Given the description of an element on the screen output the (x, y) to click on. 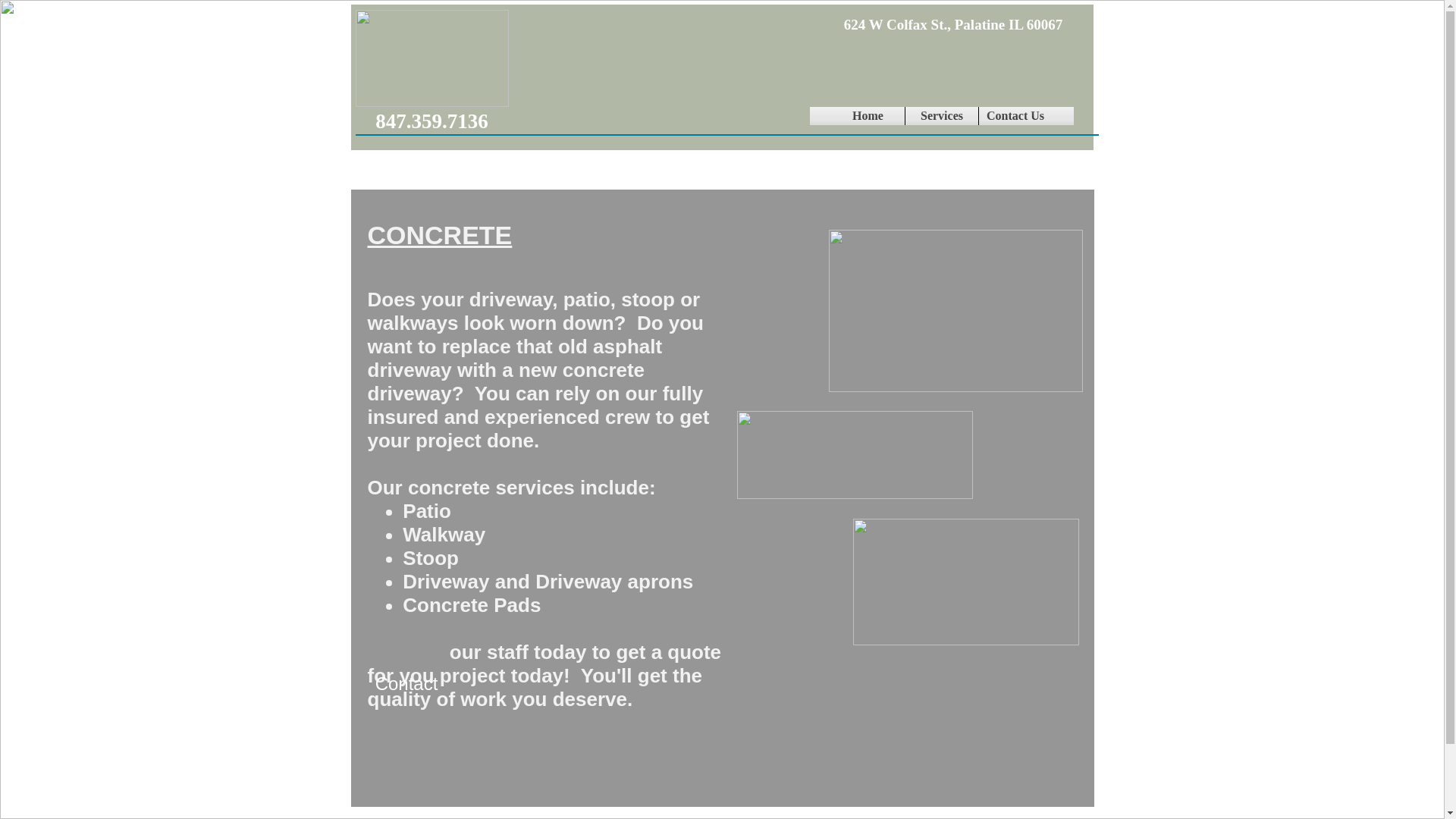
847.359.7136 (432, 122)
Contact (406, 683)
Home (867, 116)
Contact Us (1014, 116)
